Given the description of an element on the screen output the (x, y) to click on. 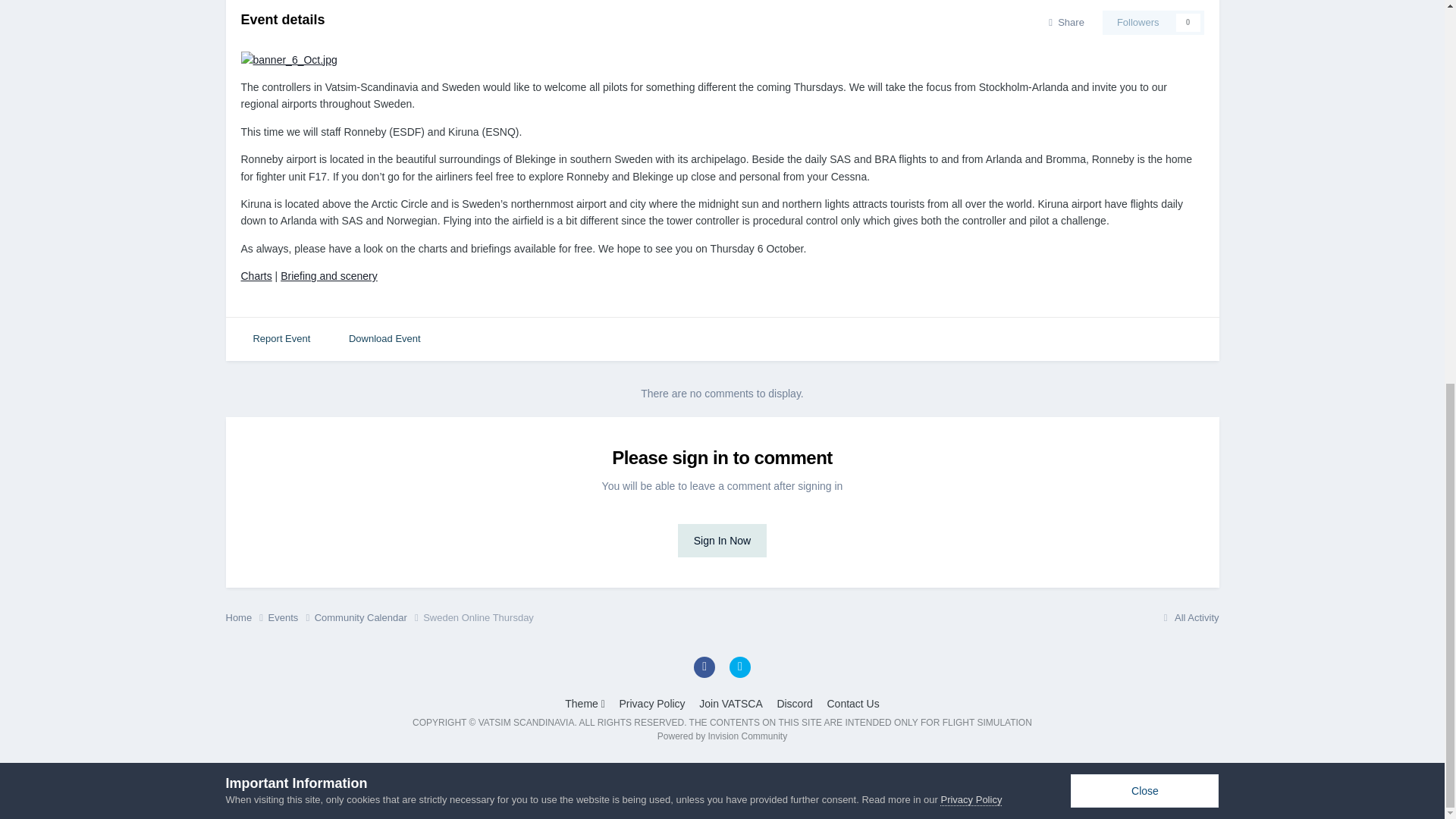
Report Event (280, 338)
Download this event as an iCal file (384, 338)
Home (246, 617)
Enlarge image (289, 59)
Sign in to follow this (1153, 22)
Invision Community (722, 736)
